Given the description of an element on the screen output the (x, y) to click on. 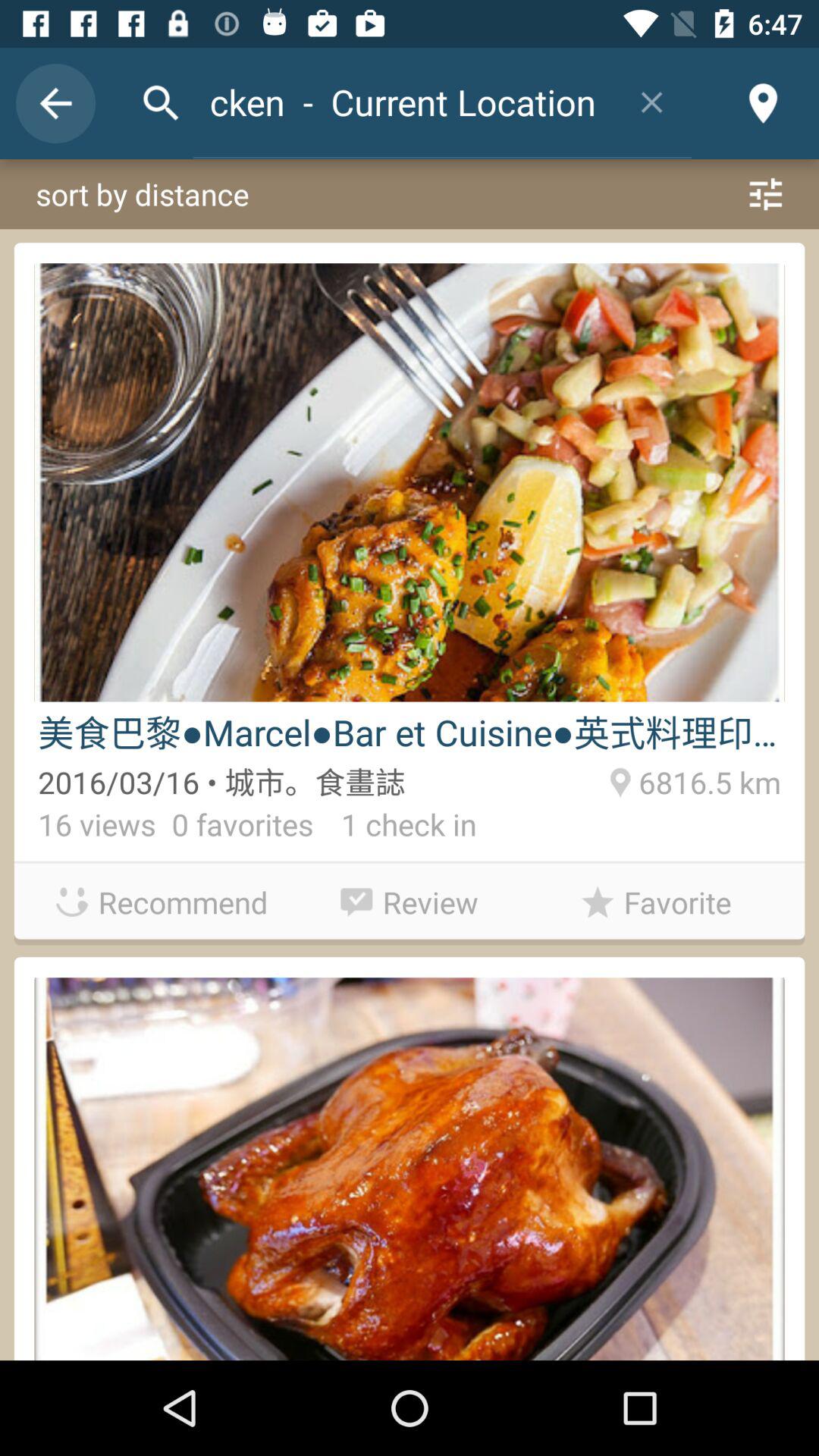
scroll until the recommend app (161, 902)
